Given the description of an element on the screen output the (x, y) to click on. 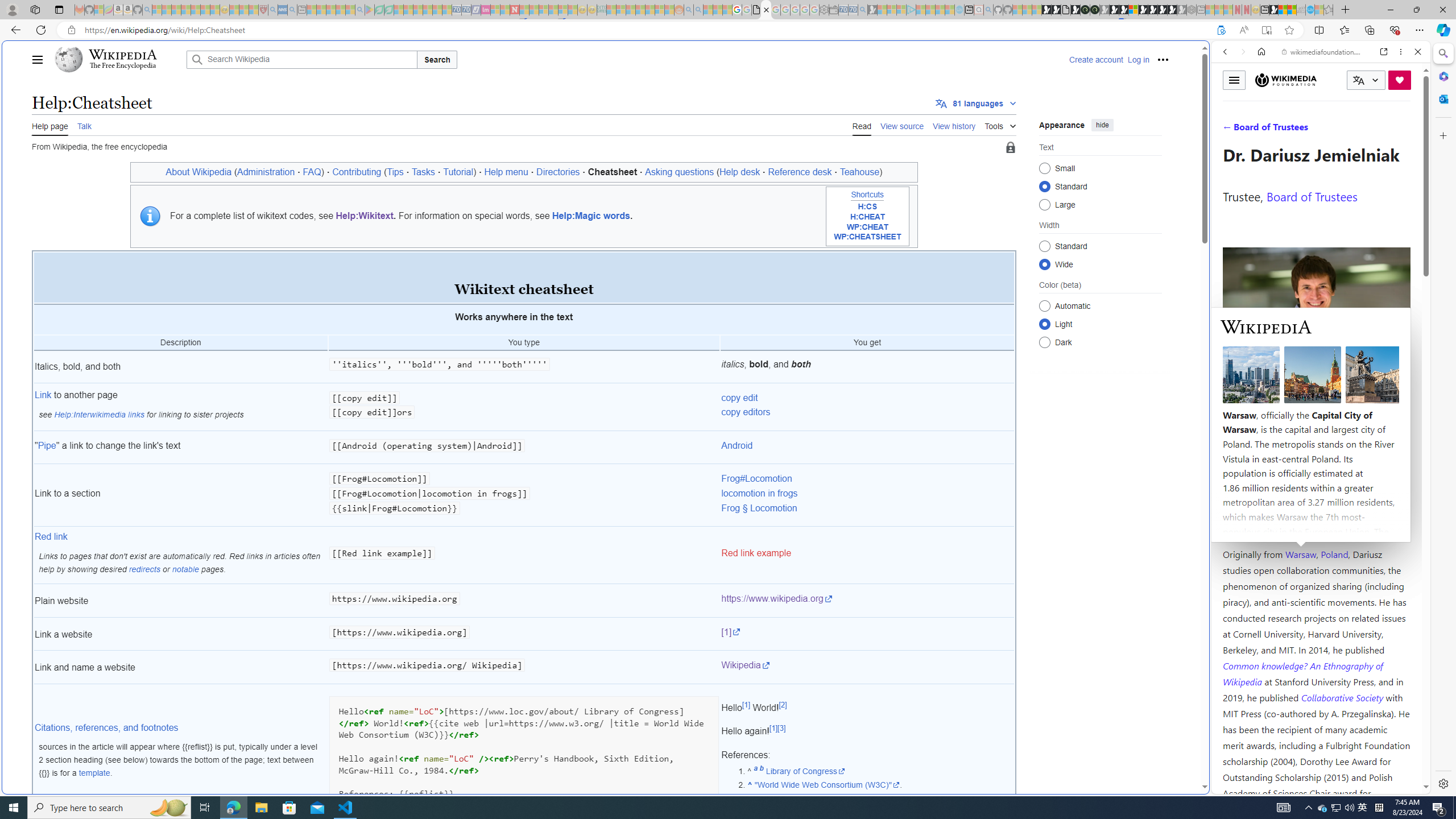
Warsaw (1300, 554)
Help:Cheatsheet - Wikipedia (766, 9)
Link and name a website (180, 667)
Expert Portfolios - Sleeping (639, 9)
Jump up to: a (755, 770)
Tasks (423, 172)
Wikipedia The Free Encyclopedia (117, 59)
